Given the description of an element on the screen output the (x, y) to click on. 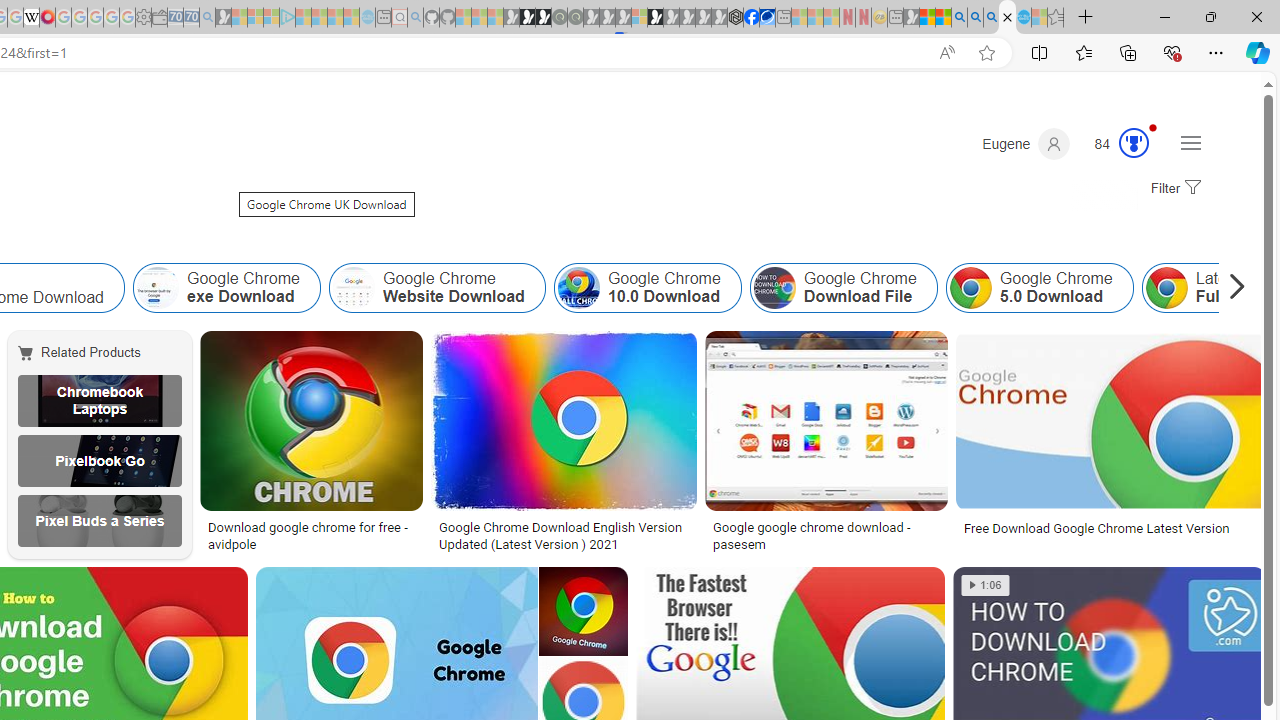
github - Search - Sleeping (415, 17)
